Given the description of an element on the screen output the (x, y) to click on. 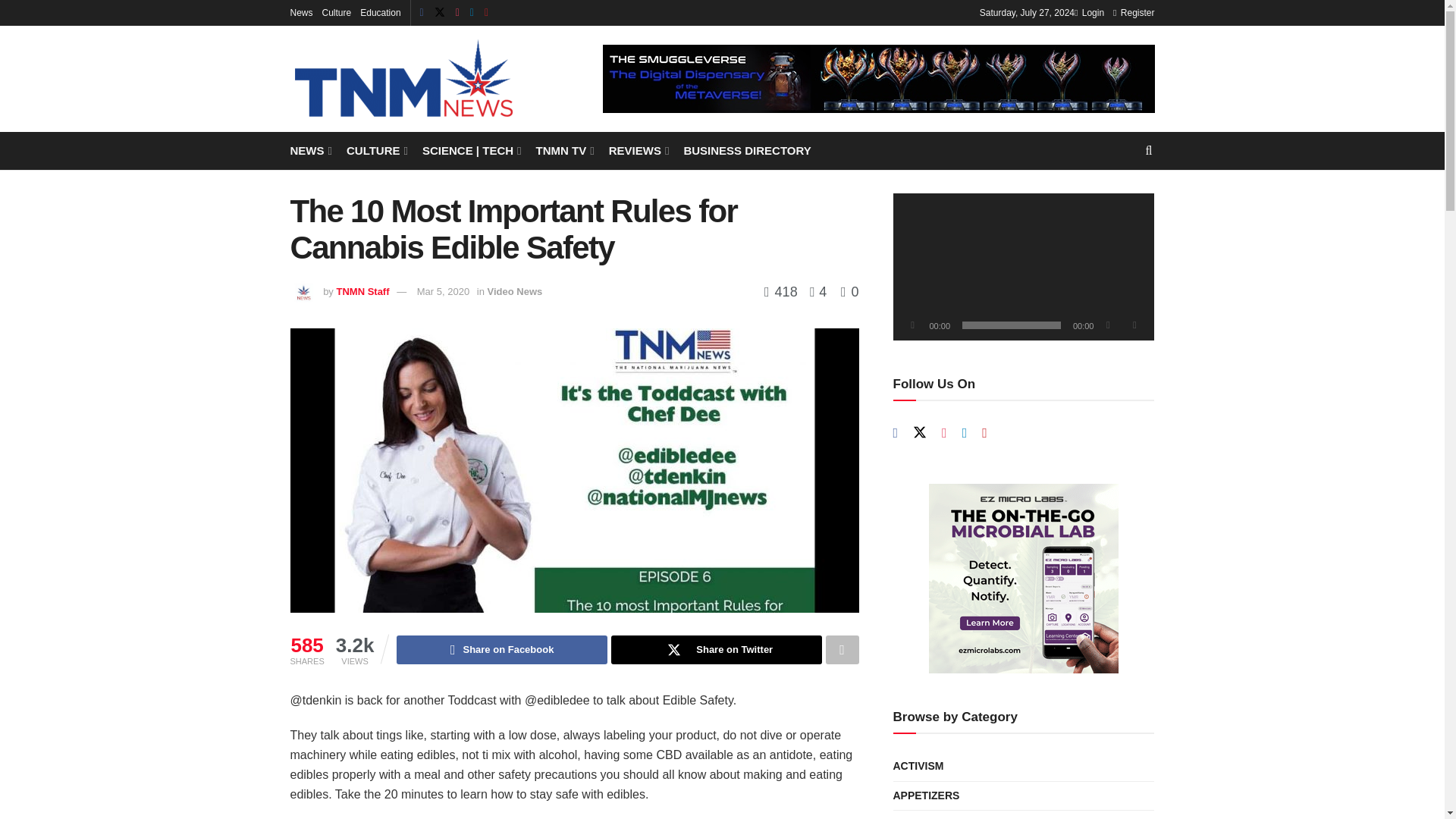
Login (1088, 12)
TNMN TV (563, 150)
Register (1133, 12)
Play (912, 324)
Education (379, 12)
NEWS (309, 150)
Fullscreen (1133, 324)
Mute (1107, 324)
Culture (336, 12)
CULTURE (376, 150)
